Given the description of an element on the screen output the (x, y) to click on. 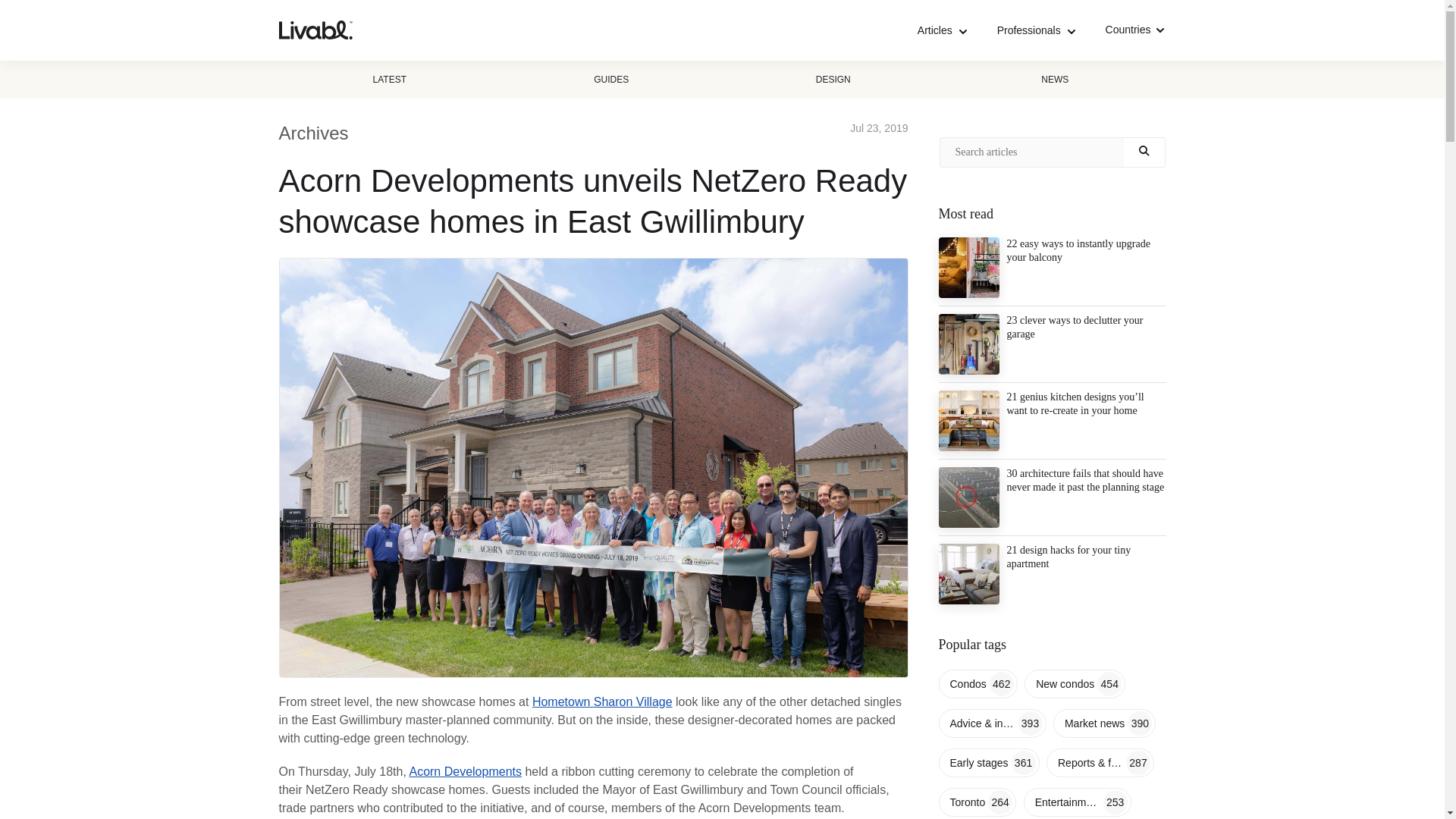
GUIDES (611, 79)
Professionals (1036, 30)
NEWS (1054, 79)
LATEST (389, 79)
DESIGN (832, 79)
Articles (941, 30)
